Given the description of an element on the screen output the (x, y) to click on. 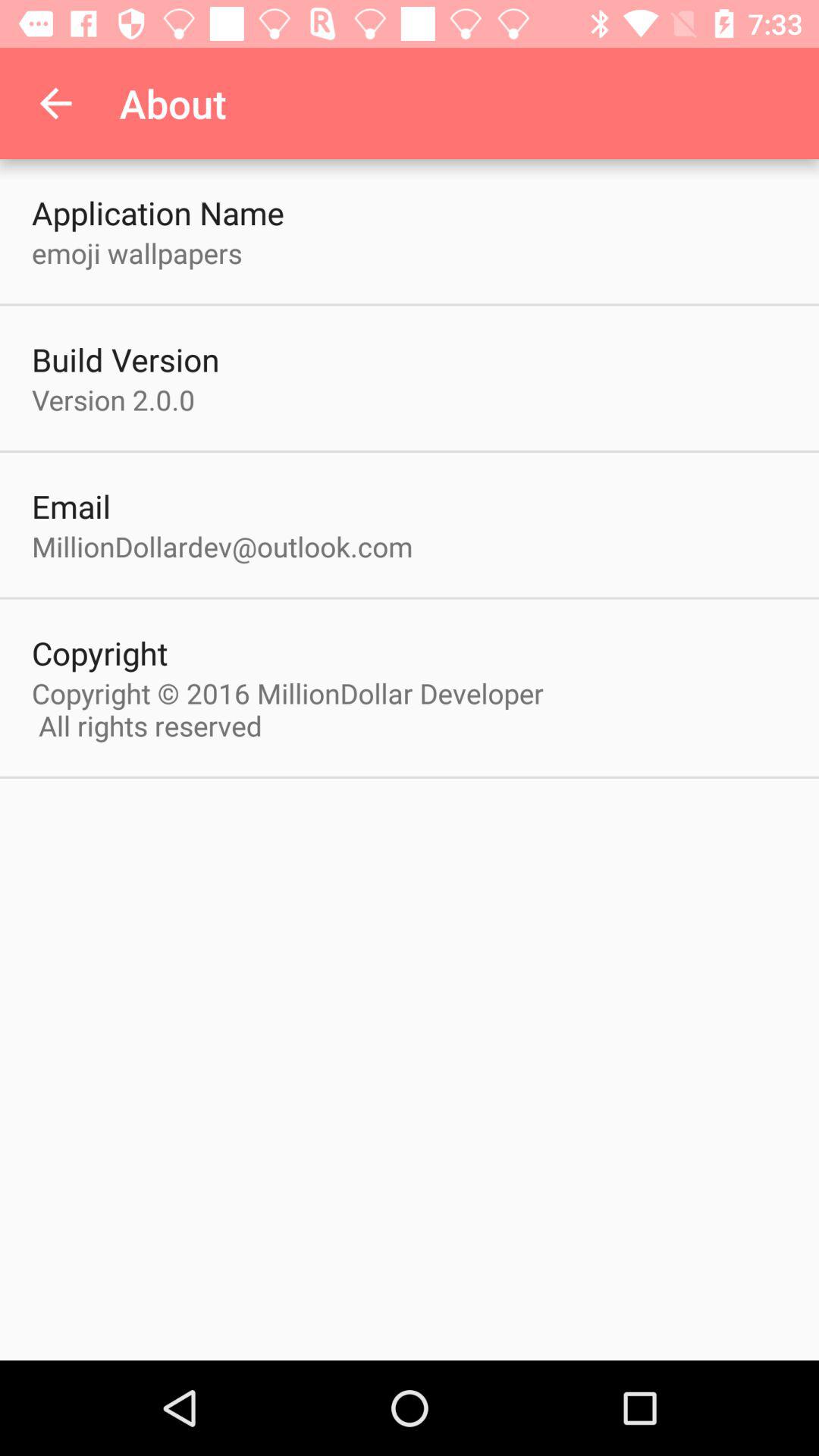
select milliondollardev@outlook.com (221, 546)
